Given the description of an element on the screen output the (x, y) to click on. 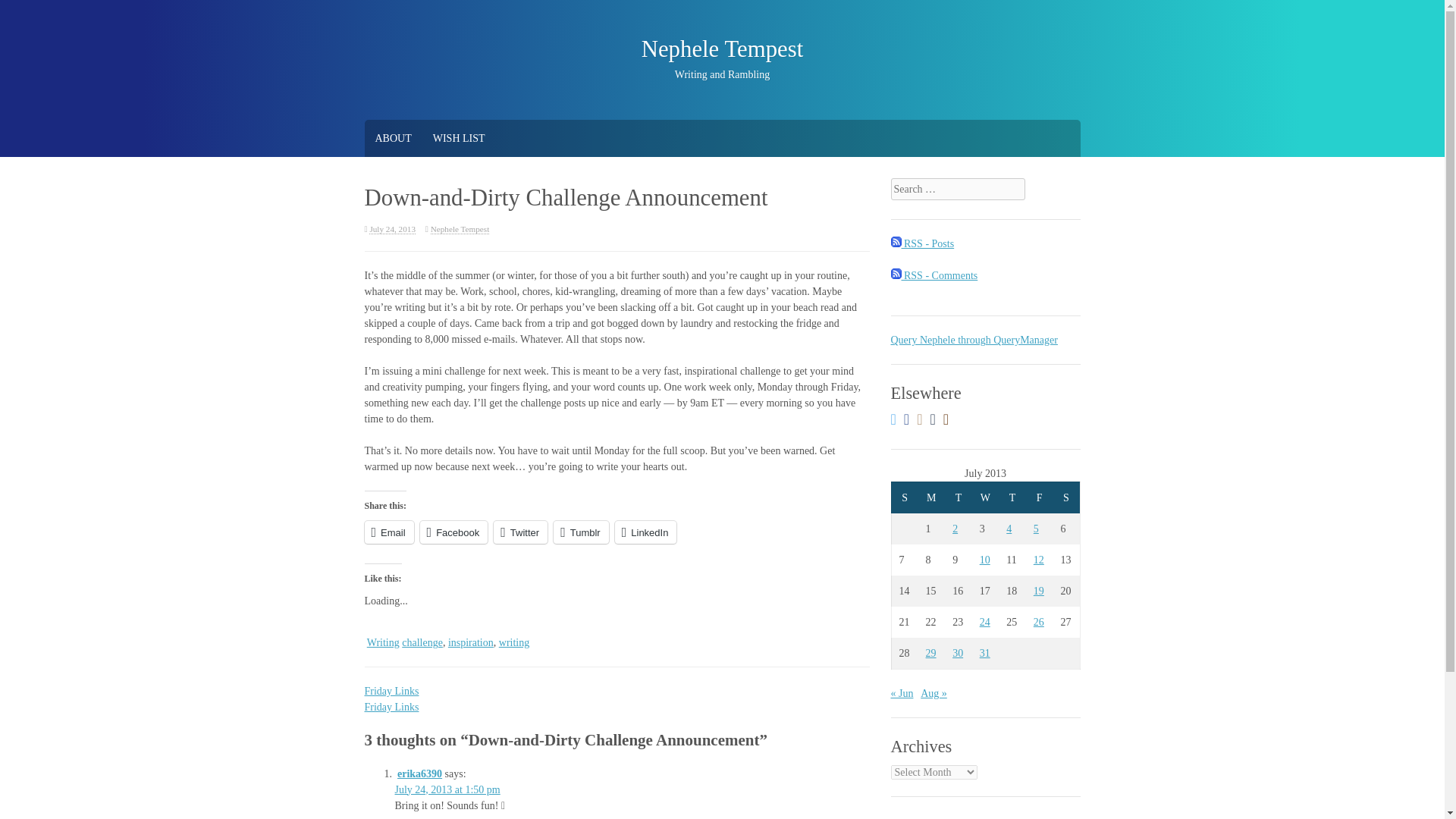
ABOUT (393, 138)
Click to email a link to a friend (388, 531)
challenge (421, 642)
Query Nephele through QueryManager (973, 339)
Twitter (520, 531)
July 24, 2013 at 1:50 pm (446, 789)
Click to share on Tumblr (580, 531)
Tumblr (580, 531)
Click to share on Facebook (453, 531)
Nephele Tempest (459, 229)
